Given the description of an element on the screen output the (x, y) to click on. 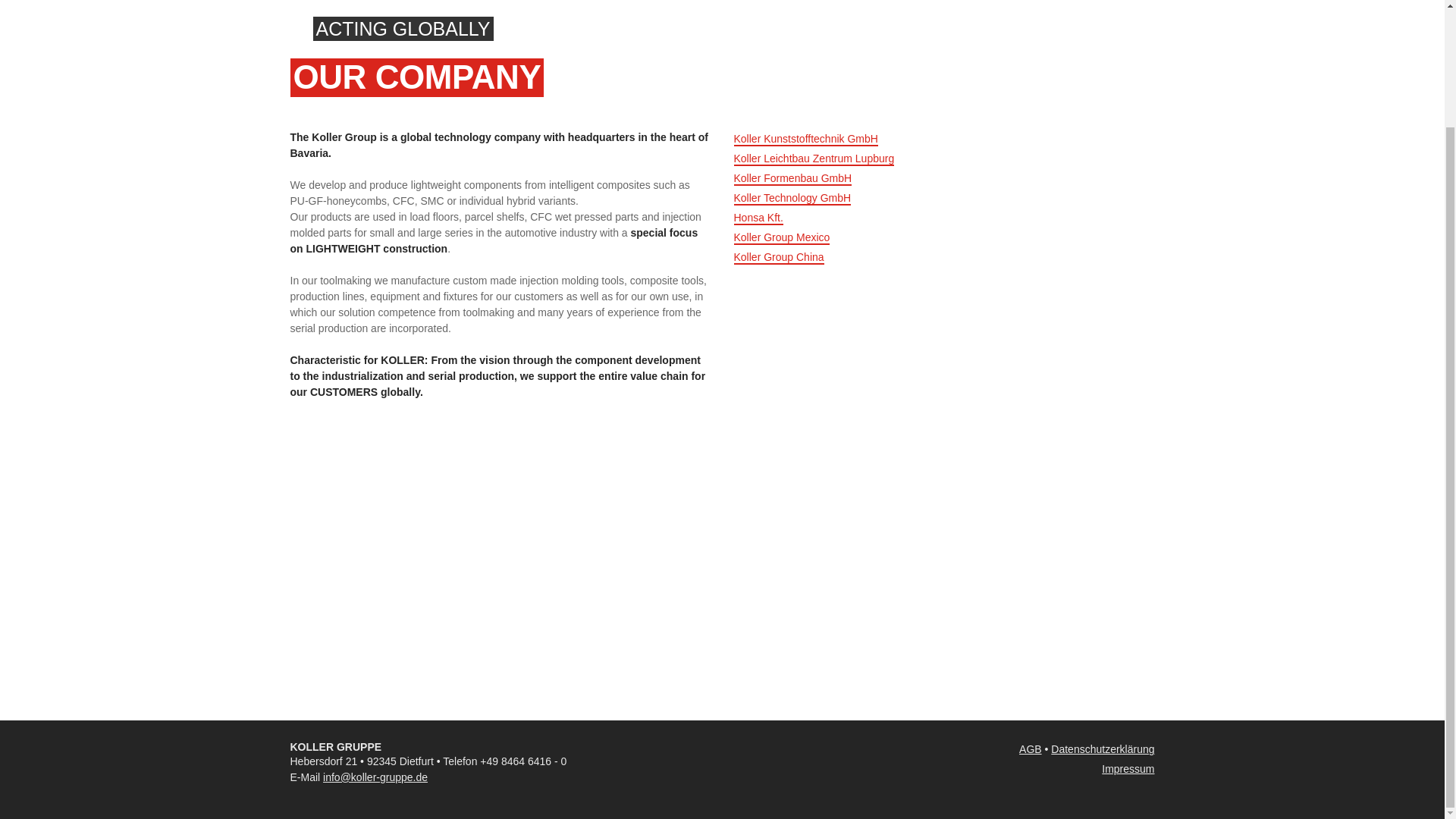
Koller Formenbau GmbH (792, 178)
Koller Leichtbau Zentrum Lupburg (814, 159)
Koller Technology GmbH (792, 198)
Koller Kunststofftechnik GmbH (805, 139)
Honsa Kft. (758, 218)
Koller Group Mexico (781, 237)
